Given the description of an element on the screen output the (x, y) to click on. 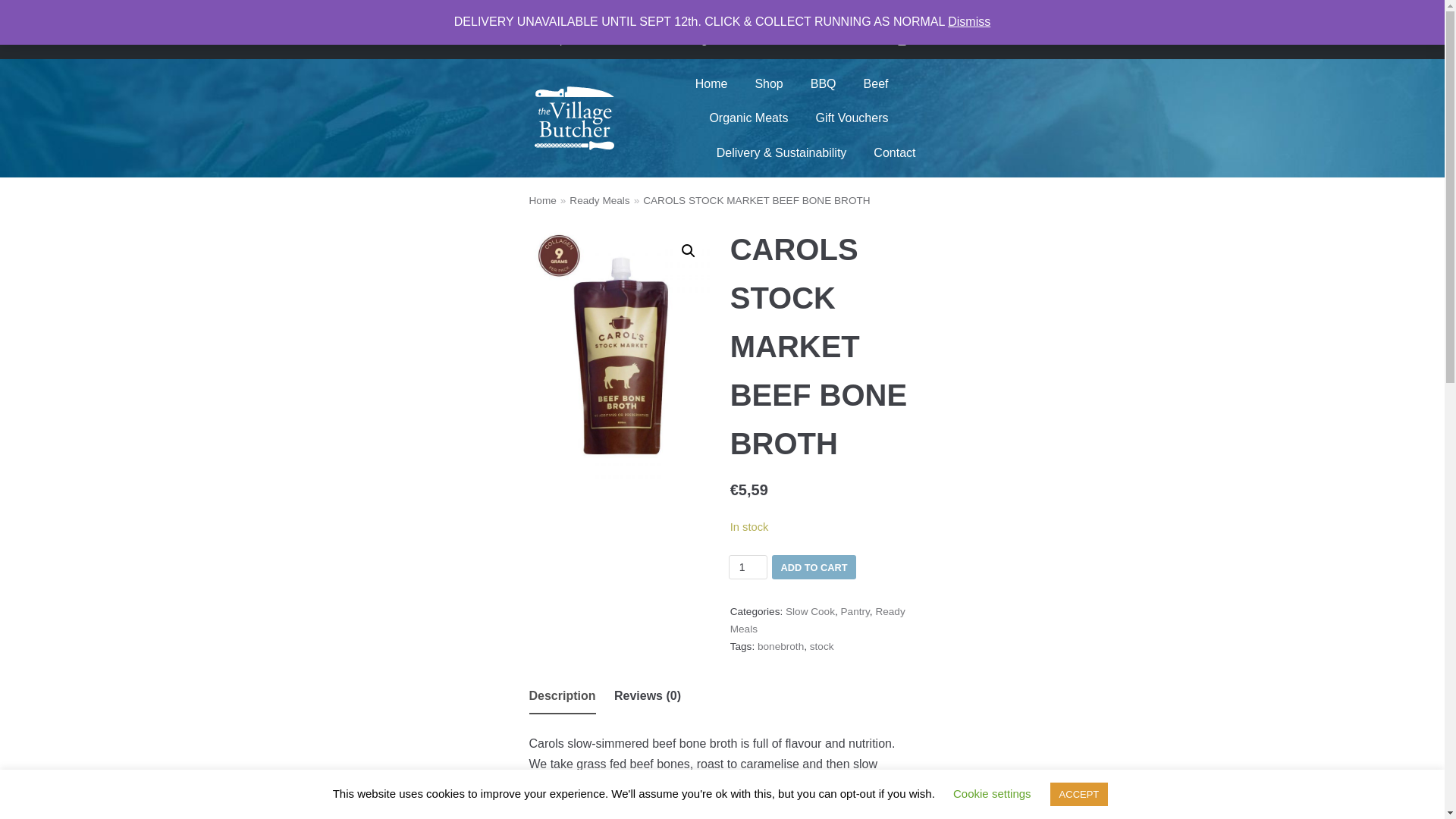
Home (542, 200)
0 (890, 29)
1 (748, 567)
stock (821, 645)
Gift Vouchers (851, 117)
BBQ (822, 84)
Home (711, 84)
Twitter (645, 38)
Slow Cook (810, 611)
Instagram (702, 38)
